Given the description of an element on the screen output the (x, y) to click on. 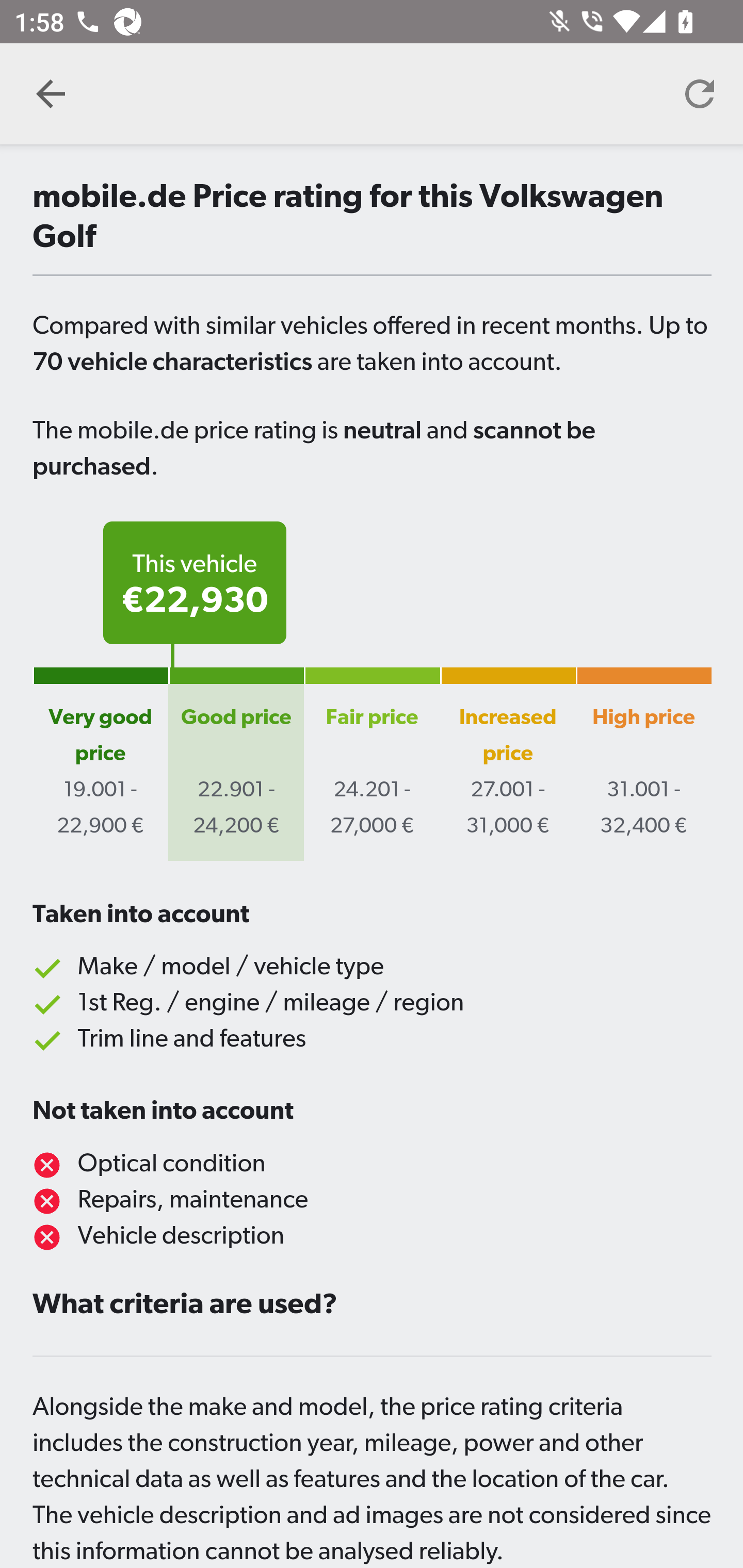
Navigate up (50, 93)
synchronize (699, 93)
